Given the description of an element on the screen output the (x, y) to click on. 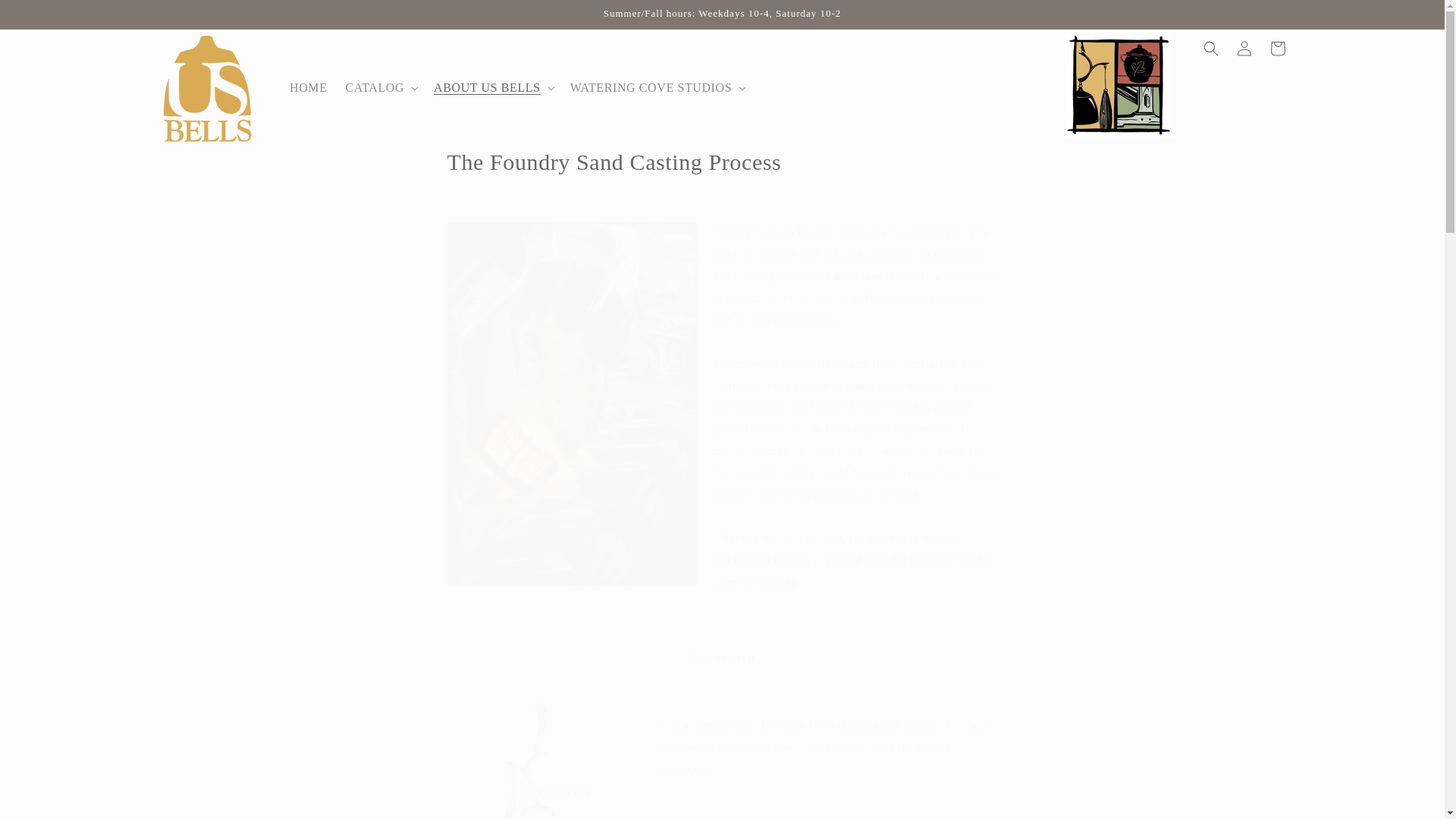
HOME (308, 88)
Skip to content (45, 16)
The Foundry Sand Casting Process (721, 161)
